Given the description of an element on the screen output the (x, y) to click on. 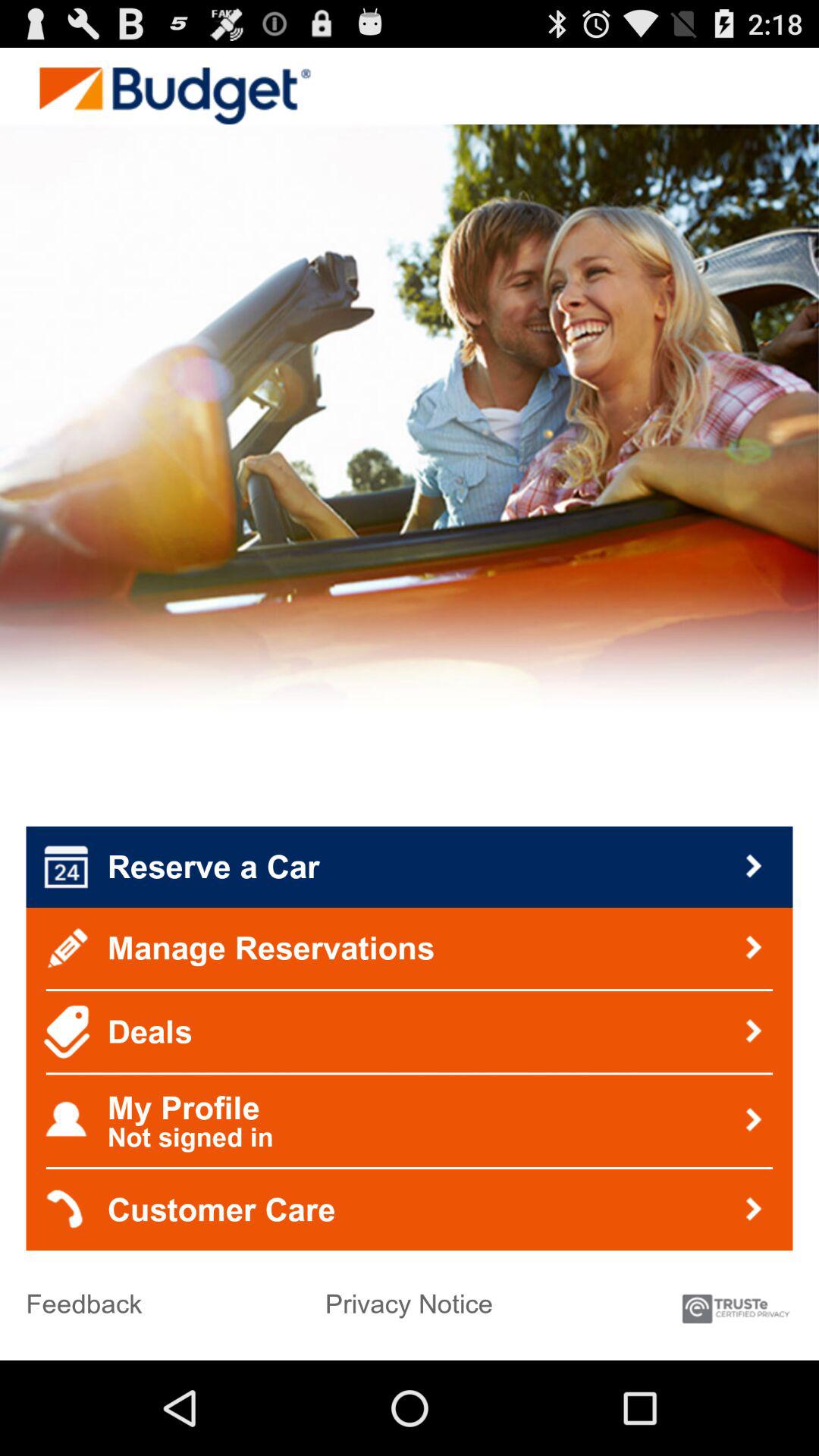
turn off the item below customer care (734, 1301)
